Given the description of an element on the screen output the (x, y) to click on. 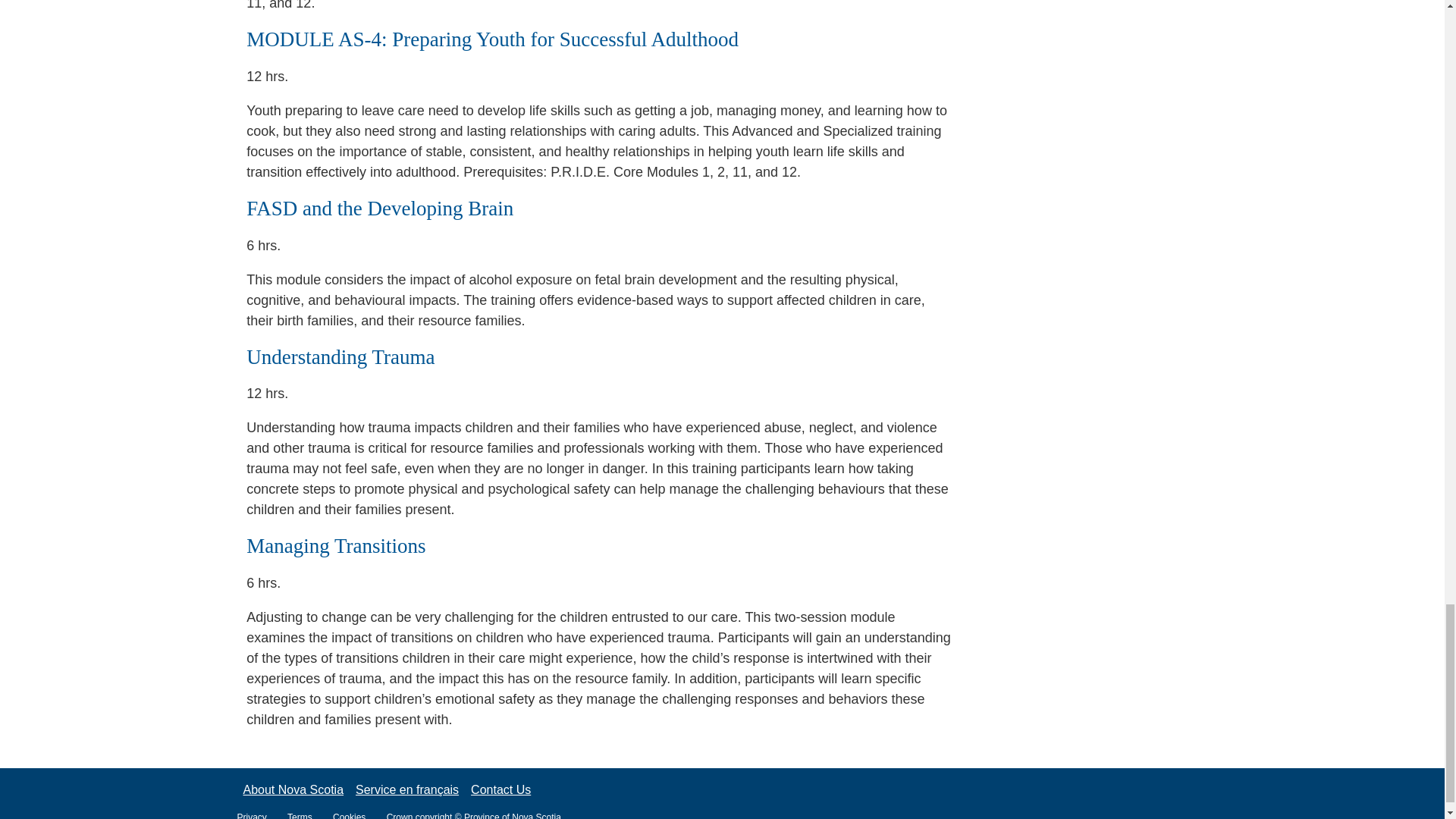
Cookies (358, 815)
Terms (308, 815)
About Nova Scotia (293, 789)
Contact Us (500, 789)
Privacy (259, 815)
